Given the description of an element on the screen output the (x, y) to click on. 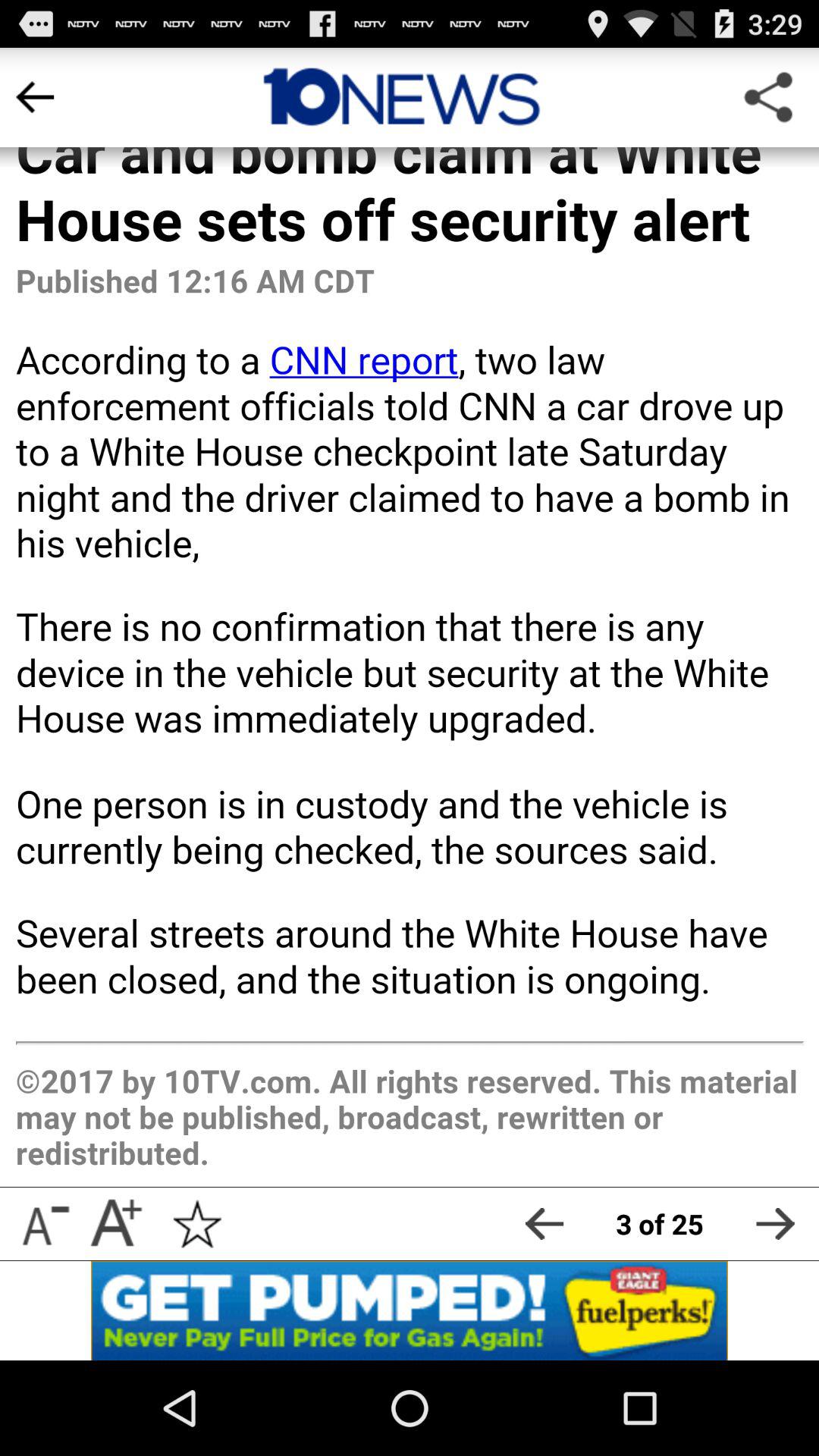
highlight (401, 97)
